Given the description of an element on the screen output the (x, y) to click on. 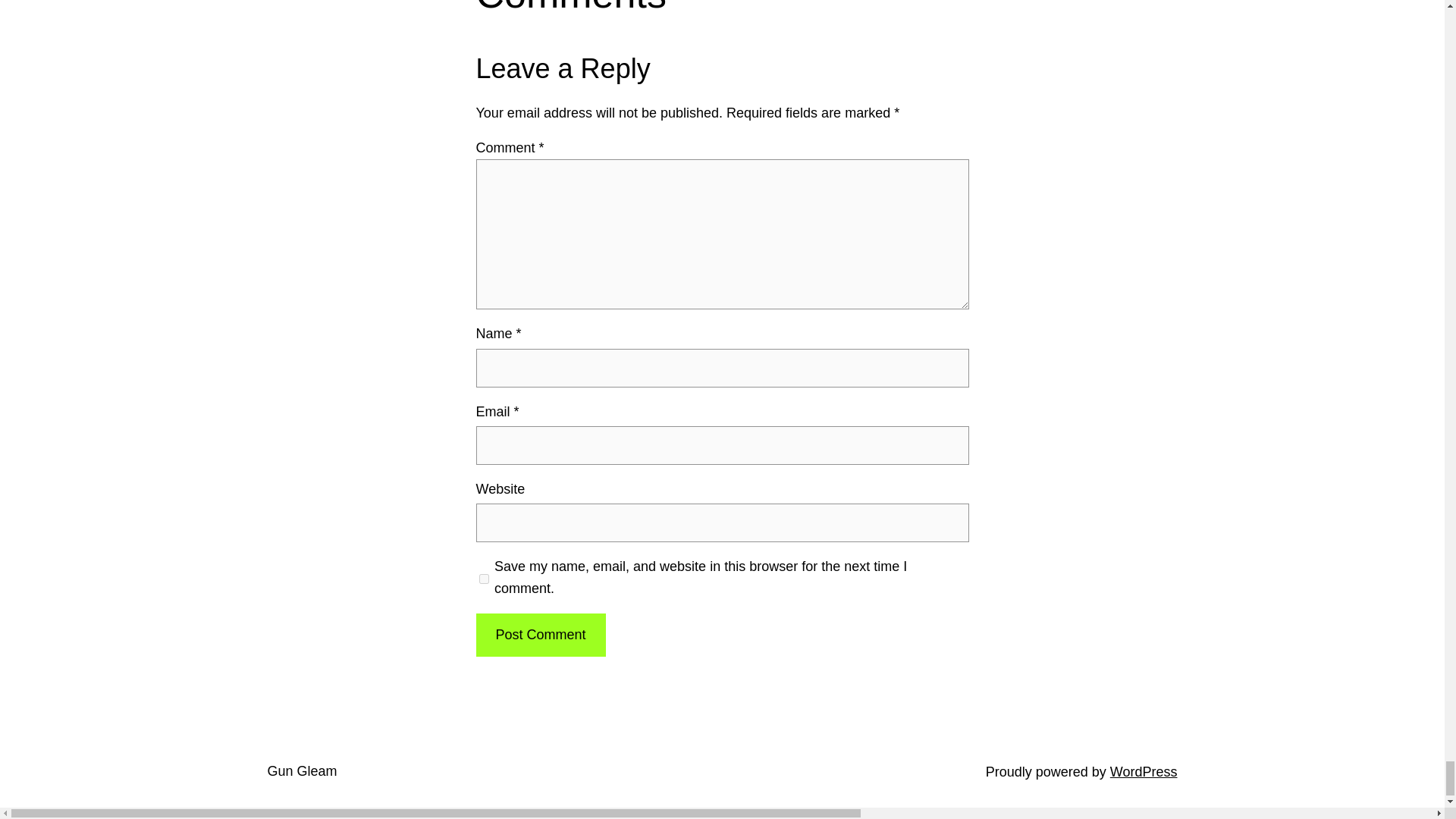
yes (484, 578)
Post Comment (540, 634)
